Given the description of an element on the screen output the (x, y) to click on. 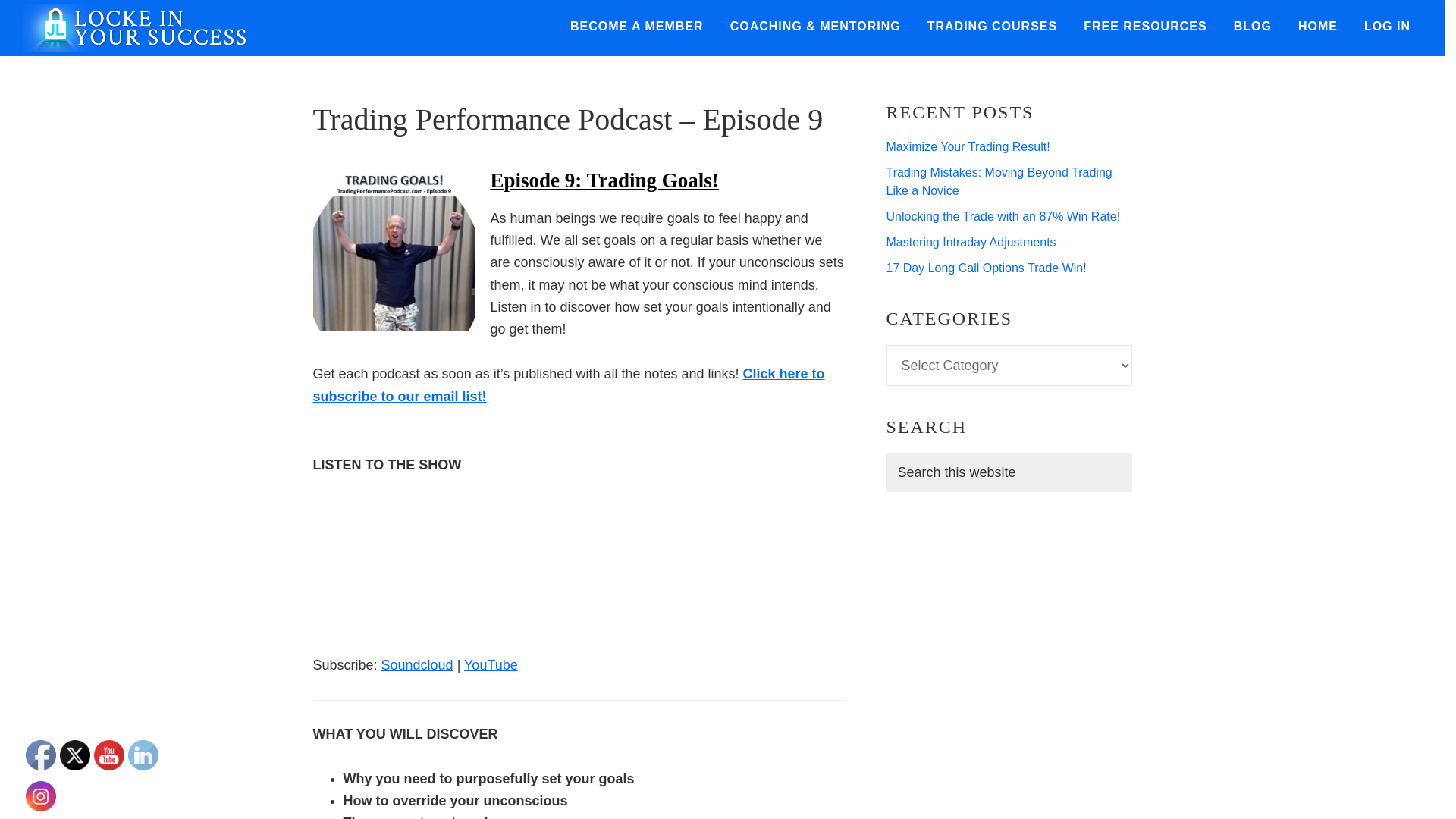
Instagram (41, 796)
YouTube (108, 755)
LinkedIn (143, 755)
BECOME A MEMBER (636, 26)
TRADING COURSES (991, 26)
Twitter (74, 755)
Facebook (41, 755)
